Given the description of an element on the screen output the (x, y) to click on. 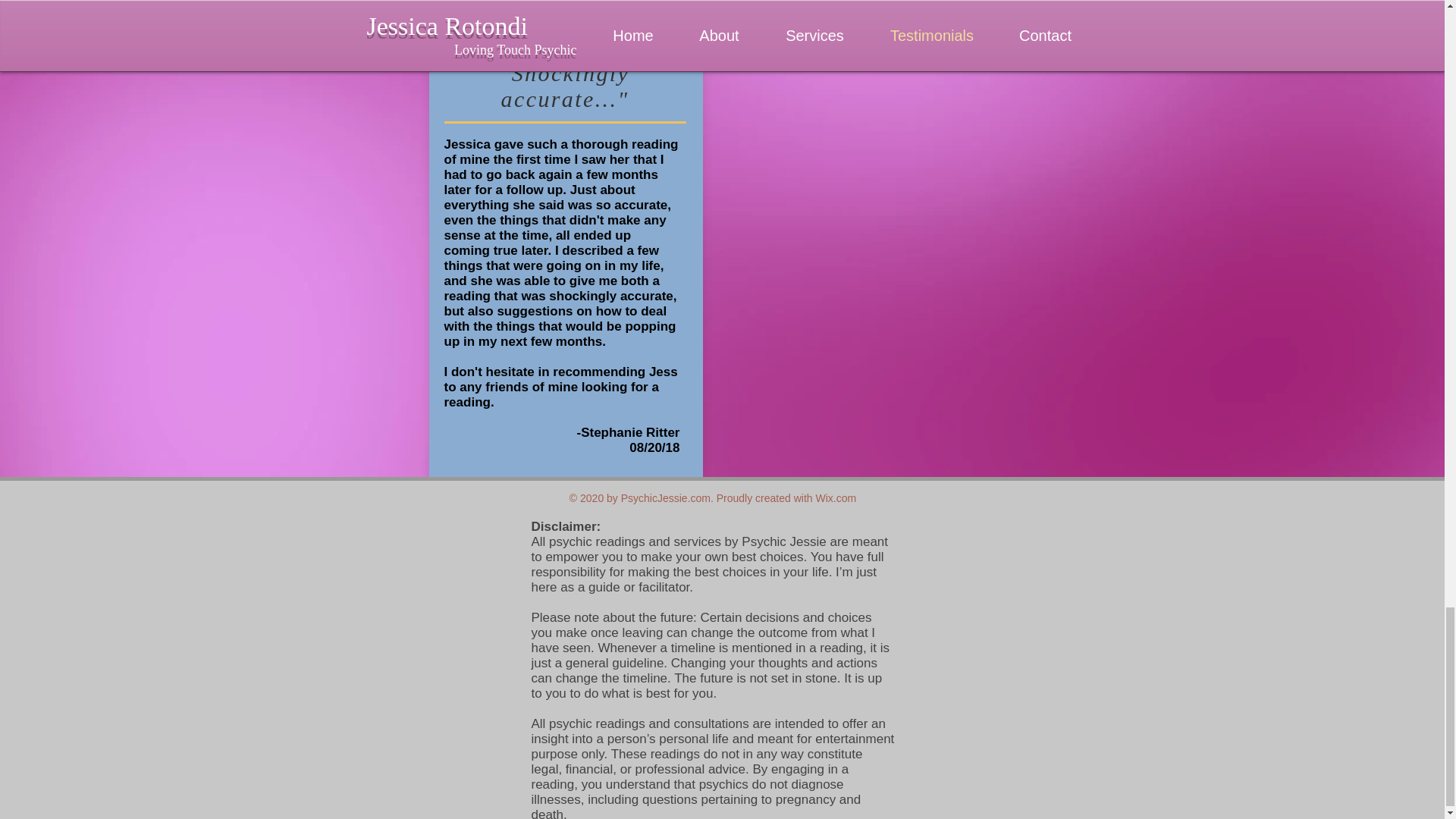
Wix.com (836, 498)
